Given the description of an element on the screen output the (x, y) to click on. 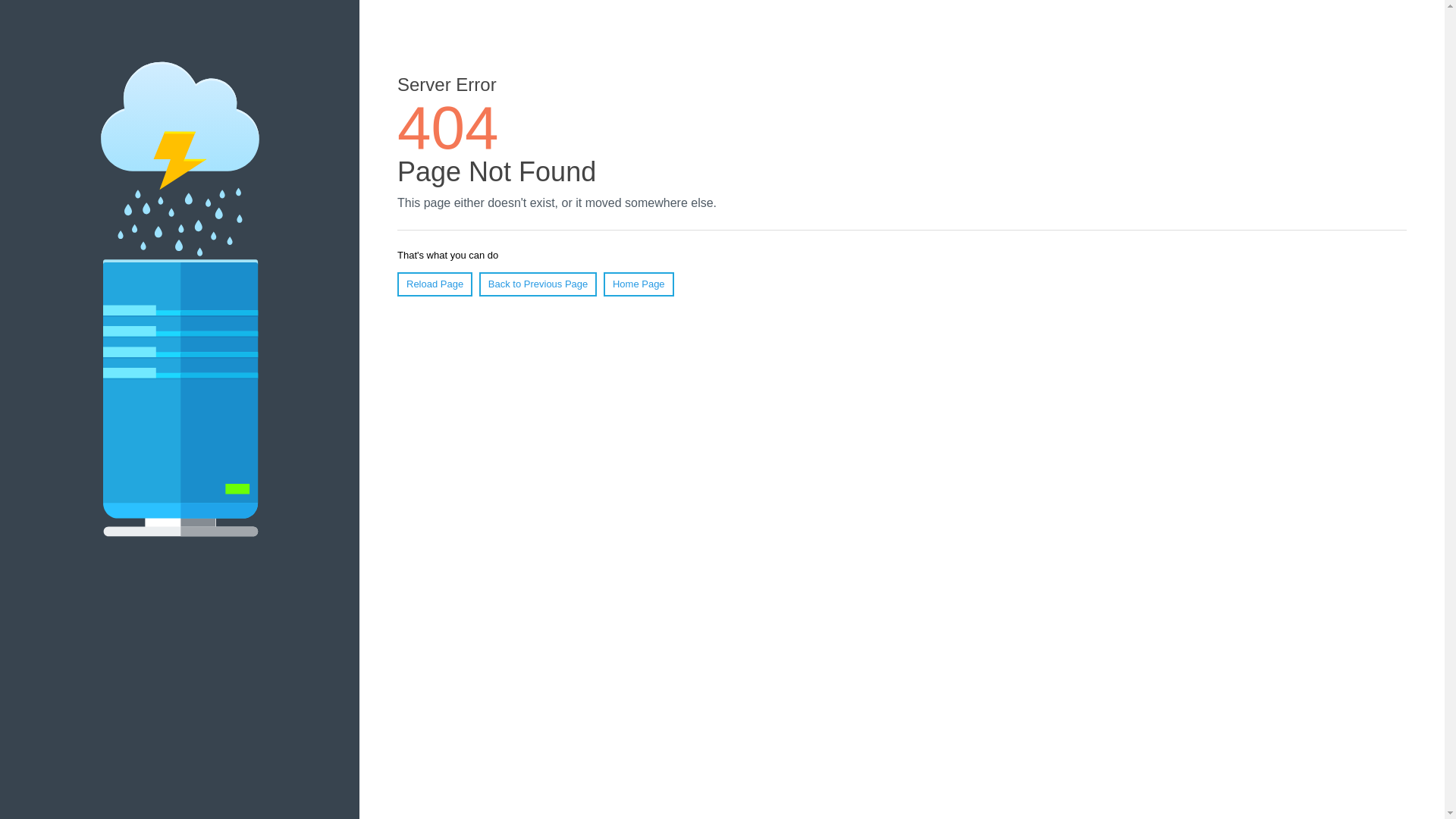
Home Page (639, 283)
Reload Page (434, 283)
Back to Previous Page (537, 283)
